Given the description of an element on the screen output the (x, y) to click on. 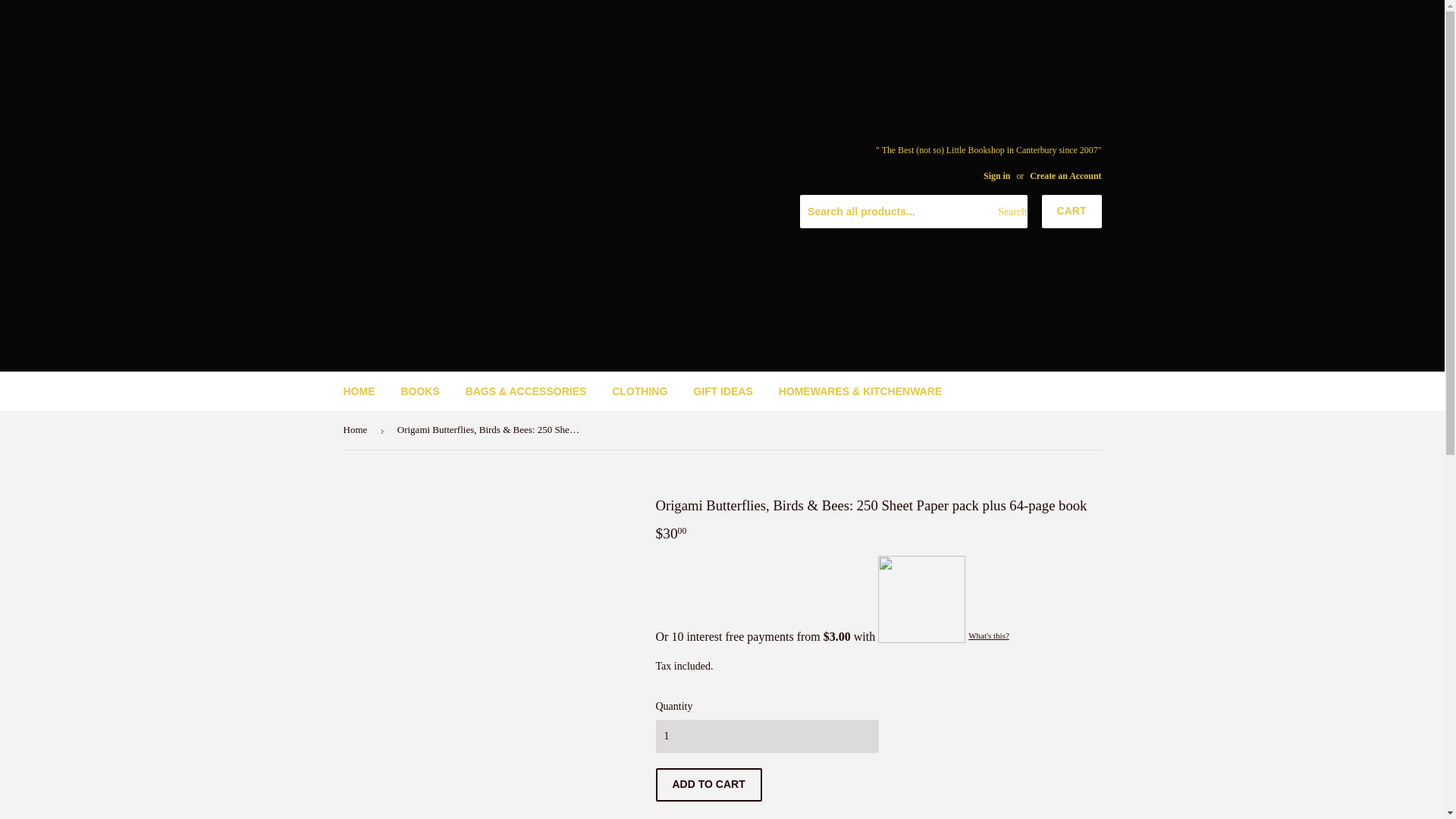
Search (1009, 212)
Sign in (997, 175)
1 (766, 735)
Create an Account (1064, 175)
CART (1072, 211)
